Given the description of an element on the screen output the (x, y) to click on. 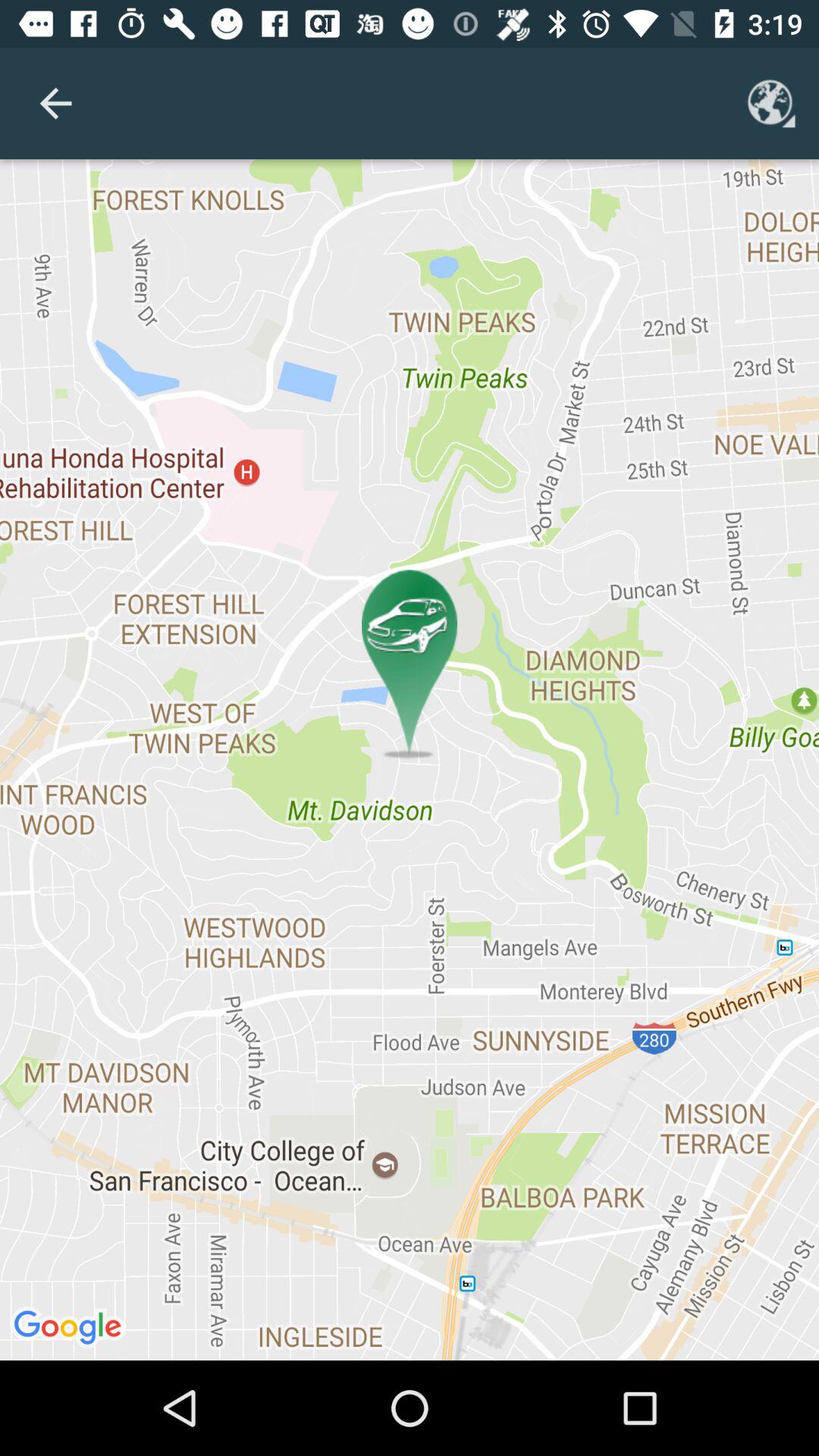
select icon at the center (409, 759)
